Given the description of an element on the screen output the (x, y) to click on. 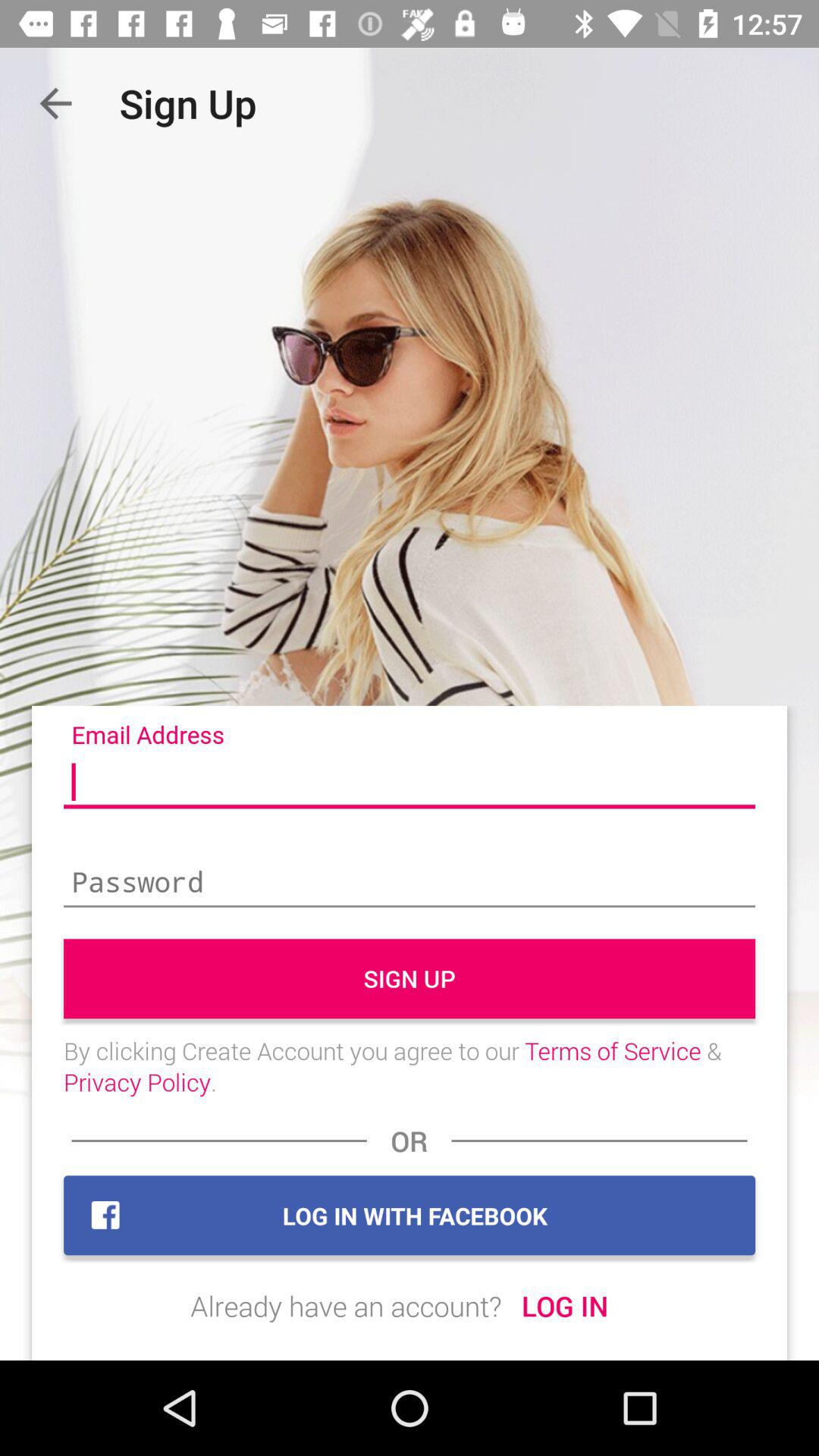
tap item above the sign up icon (409, 883)
